Given the description of an element on the screen output the (x, y) to click on. 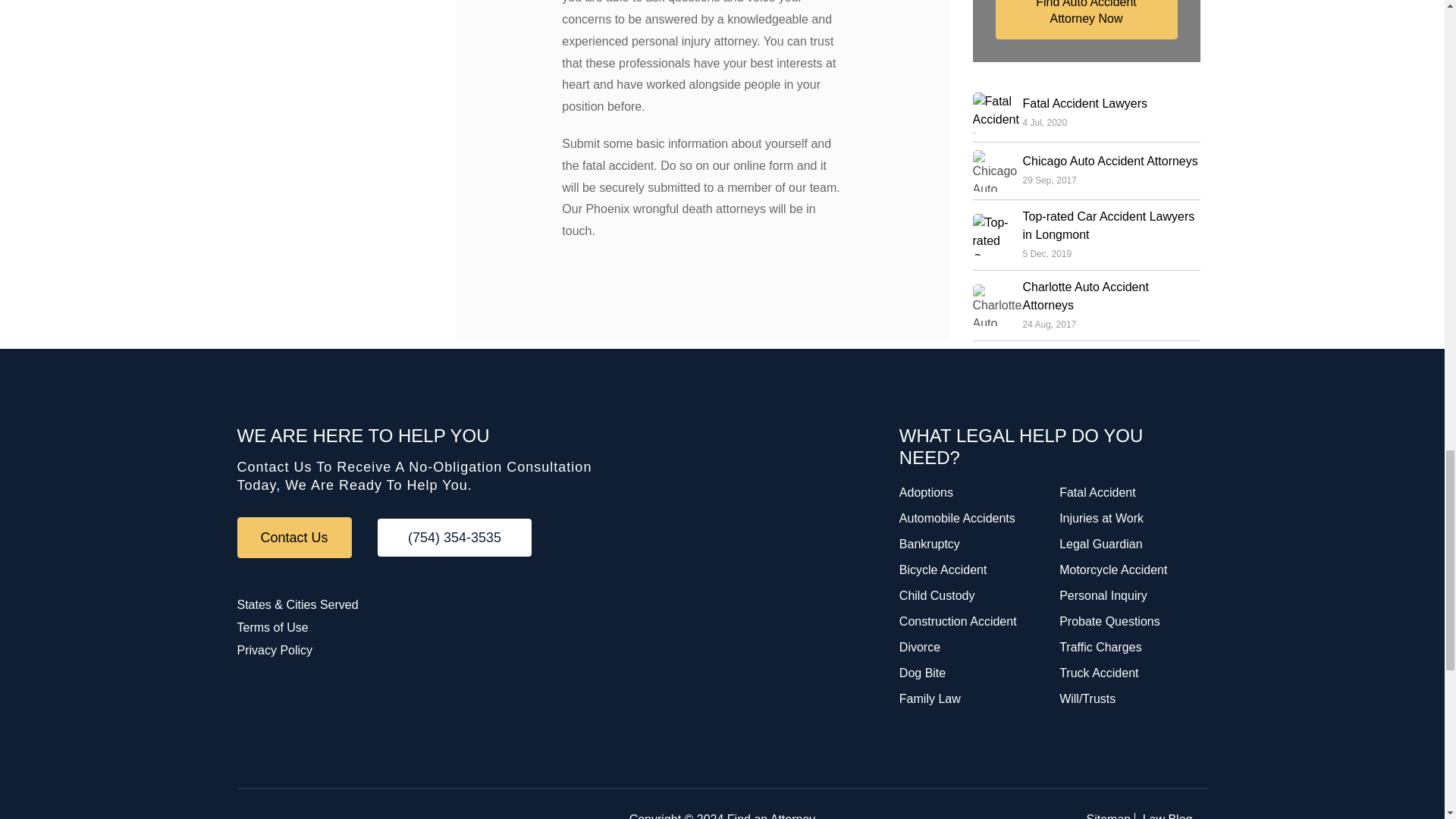
Automobile Accidents (956, 517)
Motorcycle Accident (1113, 569)
Injuries at Work (1100, 517)
Probate Questions (1109, 621)
Fatal Accident (1097, 492)
Law Blog (1167, 816)
Family Law (929, 698)
Bicycle Accident (943, 569)
Legal Guardian (1100, 543)
Divorce (919, 646)
